Given the description of an element on the screen output the (x, y) to click on. 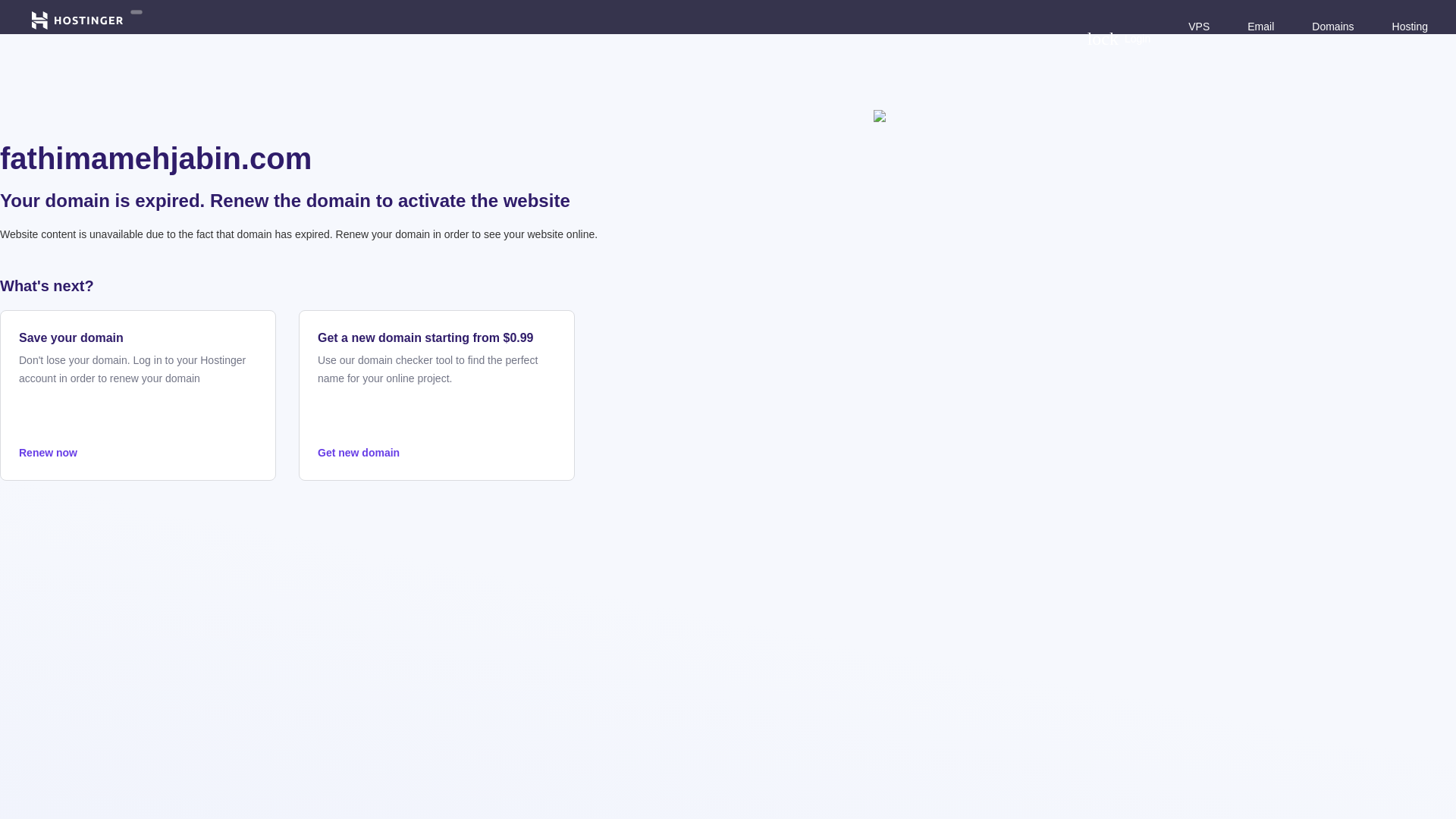
Domains (1331, 25)
Renew now (137, 452)
Get new domain (436, 452)
Hosting (1410, 25)
